Given the description of an element on the screen output the (x, y) to click on. 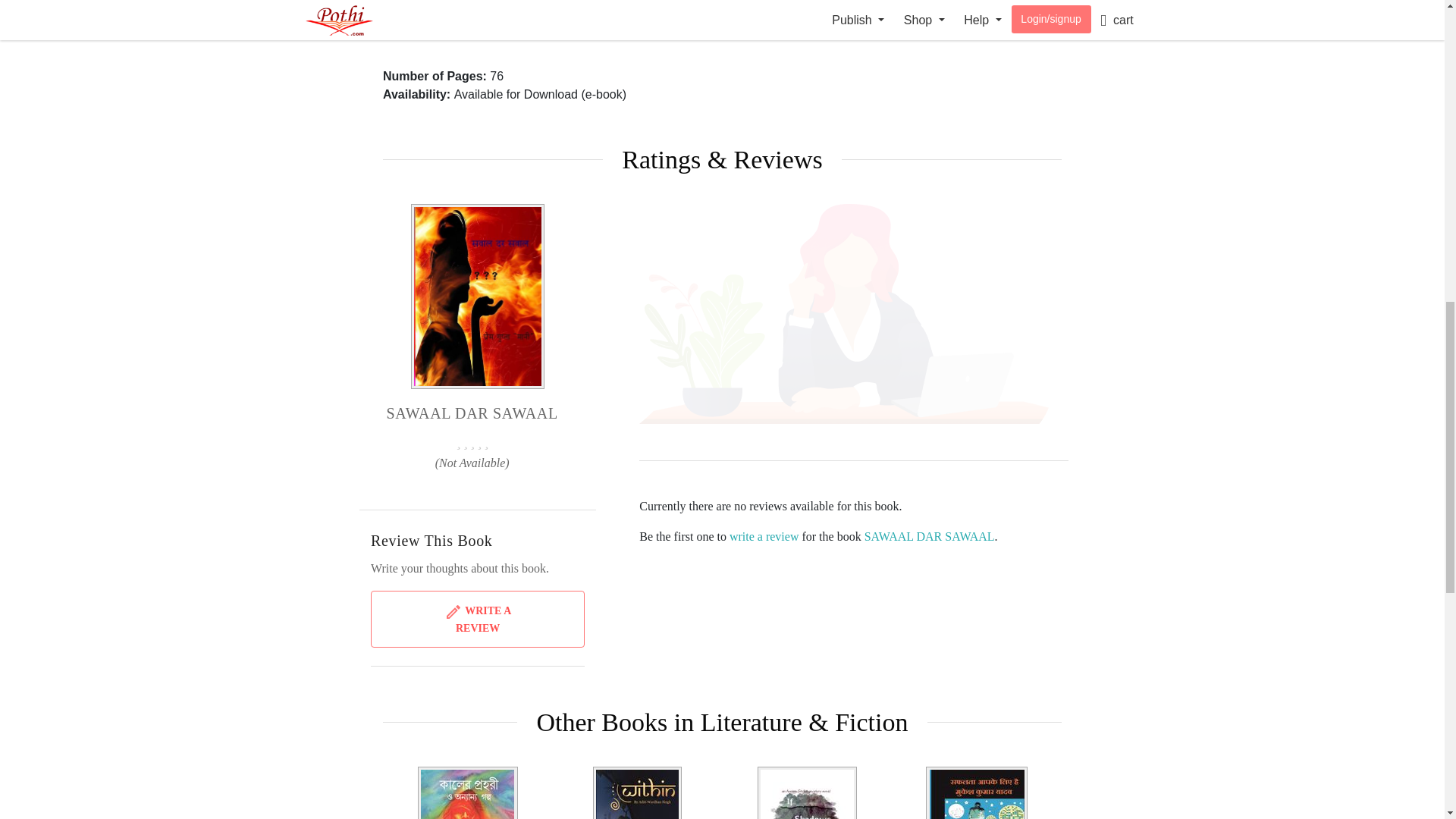
SAWAAL DAR SAWAAL (929, 535)
write a review (764, 535)
WRITE A REVIEW (478, 618)
